Given the description of an element on the screen output the (x, y) to click on. 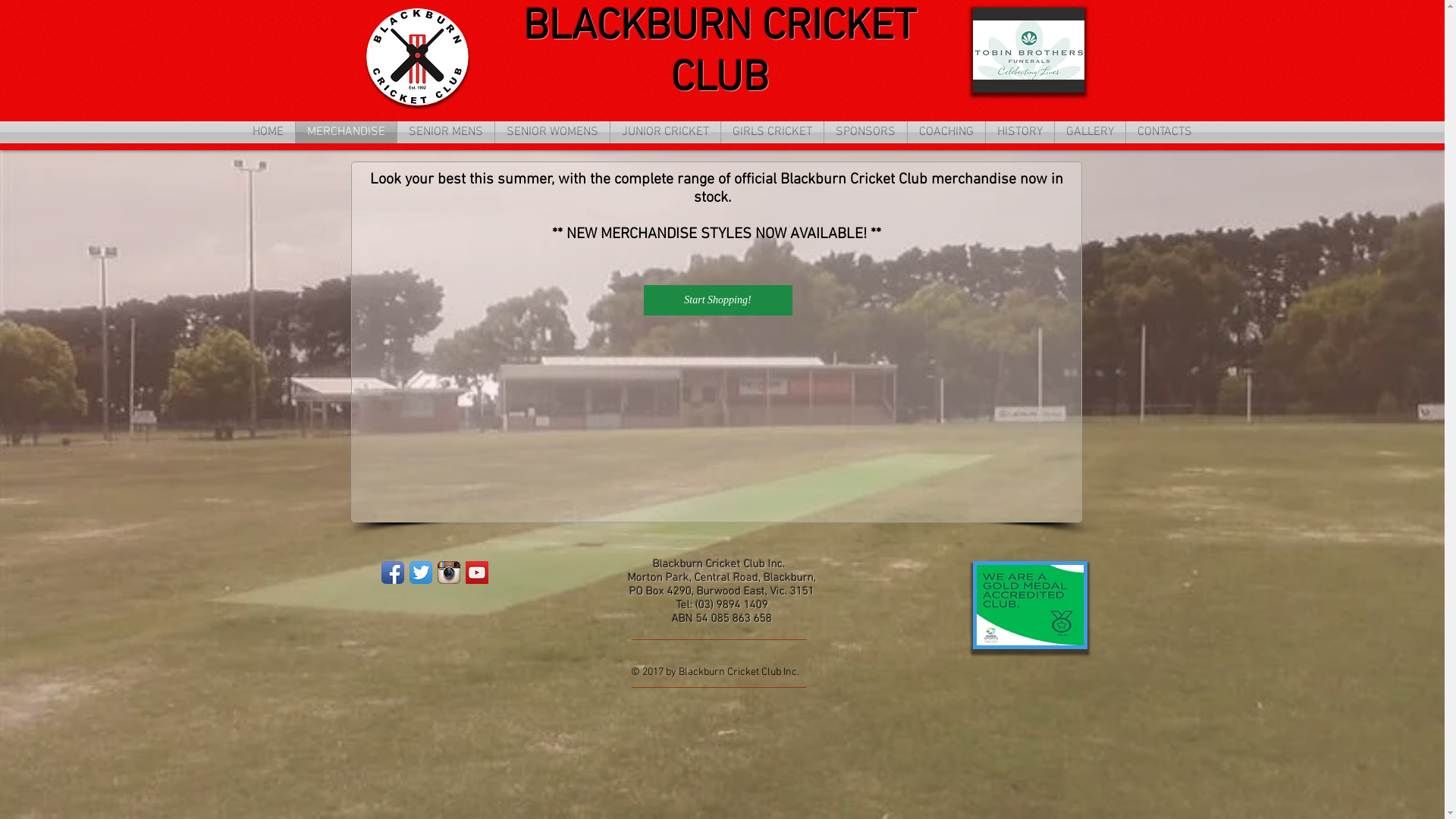
HISTORY Element type: text (1019, 132)
MERCHANDISE Element type: text (345, 132)
Facebook Like Element type: hover (409, 595)
HOME Element type: text (267, 132)
Start Shopping! Element type: text (717, 300)
SENIOR MENS Element type: text (445, 132)
JUNIOR CRICKET Element type: text (665, 132)
SPONSORS Element type: text (865, 132)
GIRLS CRICKET Element type: text (772, 132)
CONTACTS Element type: text (1164, 132)
GALLERY Element type: text (1089, 132)
BLACKBURN CRICKET CLUB Element type: text (719, 53)
Wix Hit Counter Element type: hover (430, 644)
COACHING Element type: text (946, 132)
SENIOR WOMENS Element type: text (552, 132)
